Given the description of an element on the screen output the (x, y) to click on. 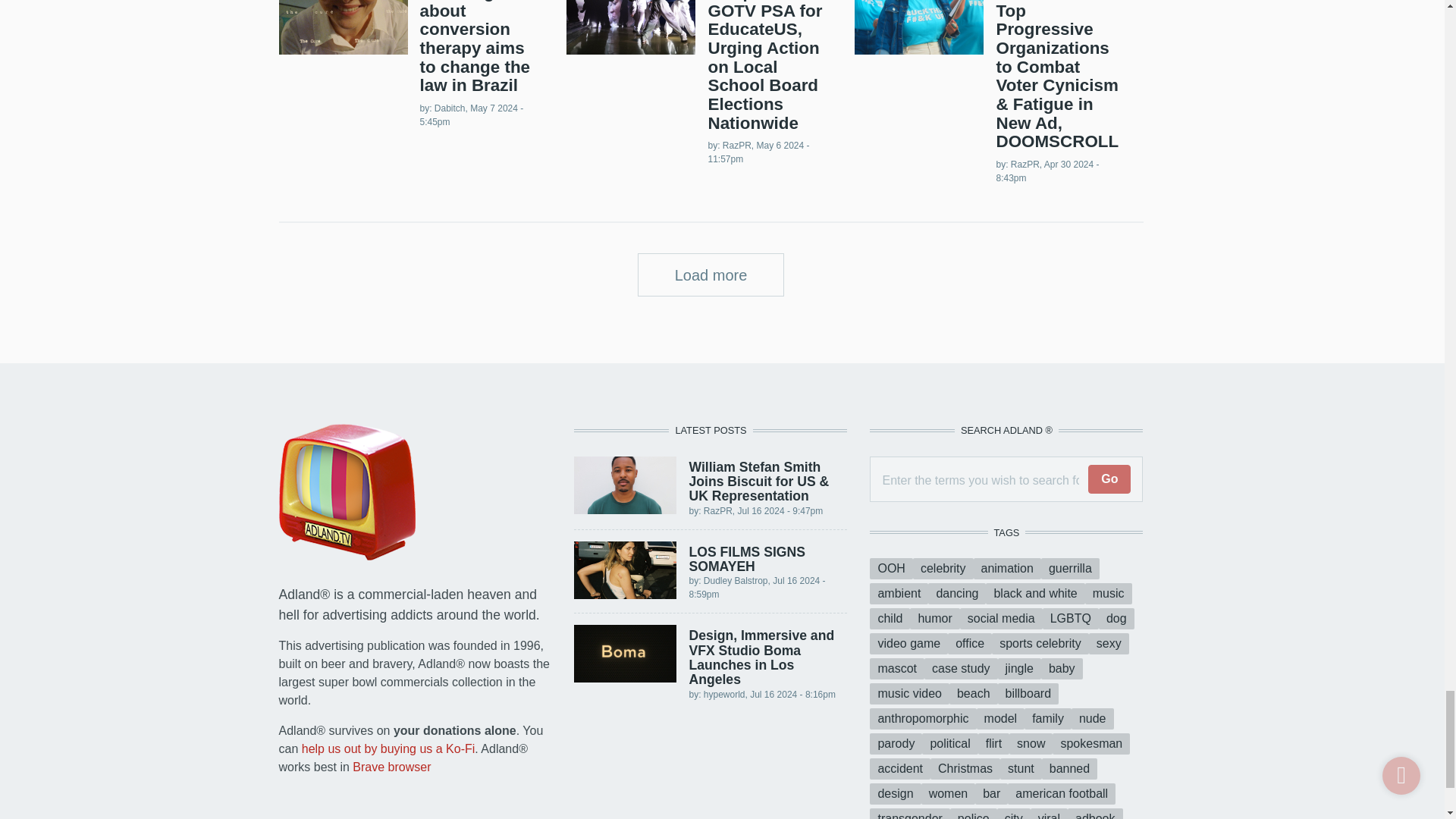
 Go (1109, 479)
